Given the description of an element on the screen output the (x, y) to click on. 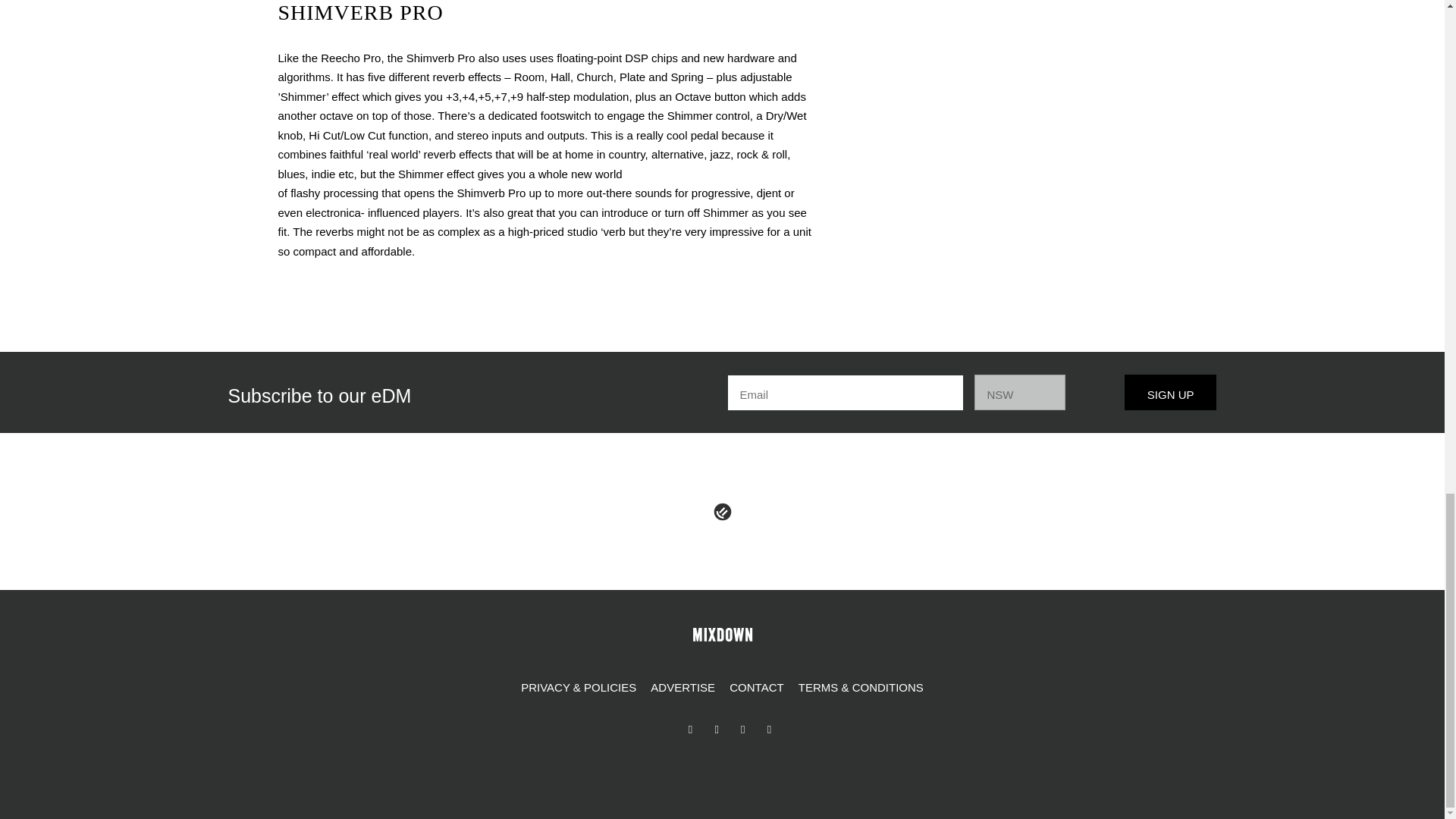
ADVERTISE (682, 687)
SIGN UP (1170, 392)
CONTACT (756, 687)
